Given the description of an element on the screen output the (x, y) to click on. 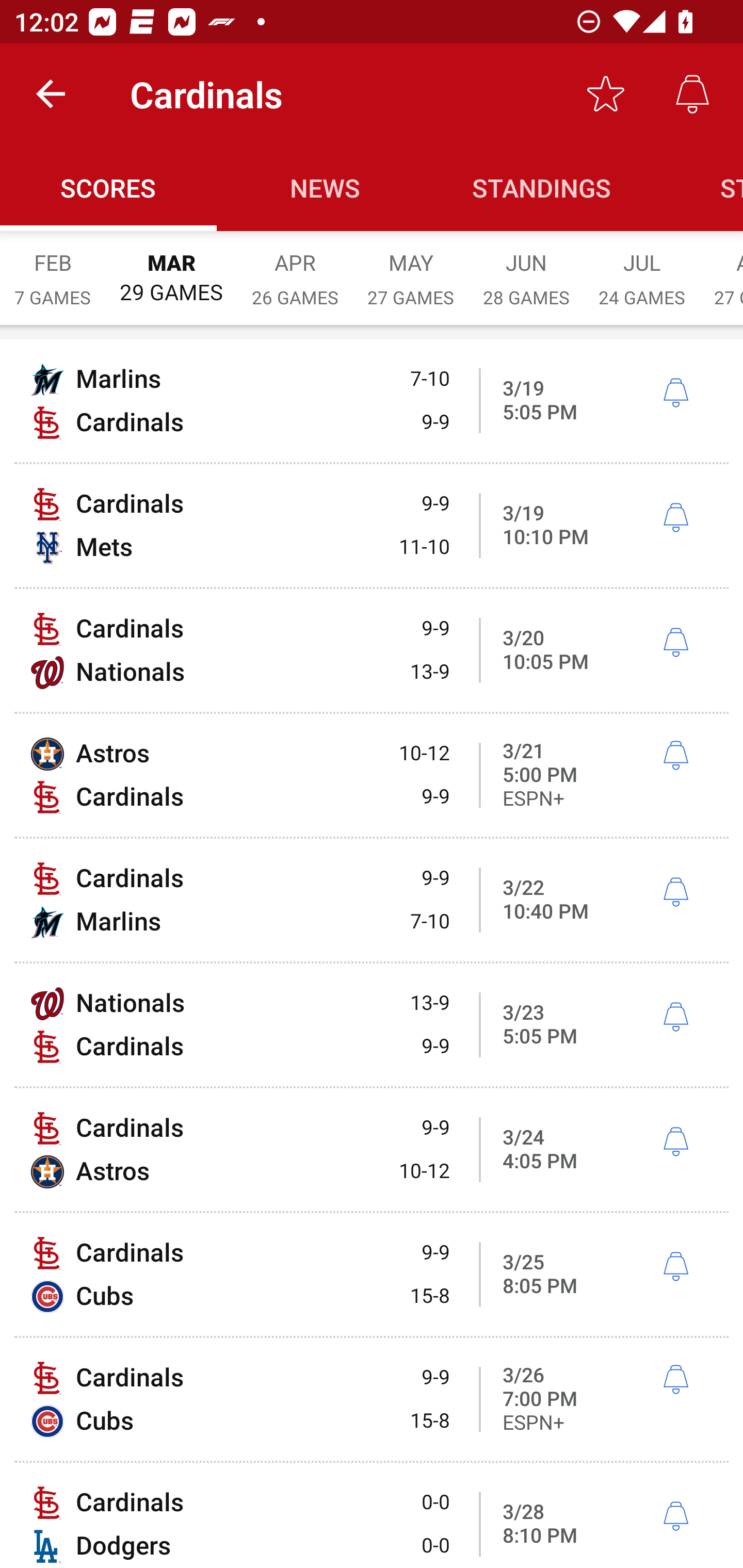
back.button (50, 93)
Favorite toggle (605, 93)
Alerts (692, 93)
News NEWS (324, 187)
Standings STANDINGS (541, 187)
Stats STATS (696, 187)
FEB 7 GAMES (52, 268)
MAR 29 GAMES (171, 267)
APR 26 GAMES (294, 268)
MAY 27 GAMES (410, 268)
JUN 28 GAMES (525, 268)
JUL 24 GAMES (641, 268)
Marlins 7-10 Cardinals 9-9 3/19 5:05 PM í (371, 400)
í (675, 392)
Cardinals 9-9 Mets 11-10 3/19 10:10 PM í (371, 525)
í (675, 517)
Cardinals 9-9 Nationals 13-9 3/20 10:05 PM í (371, 650)
í (675, 642)
Astros 10-12 Cardinals 9-9 3/21 5:00 PM í ESPN+ (371, 775)
í (675, 755)
Cardinals 9-9 Marlins 7-10 3/22 10:40 PM í (371, 899)
í (675, 892)
Nationals 13-9 Cardinals 9-9 3/23 5:05 PM í (371, 1024)
í (675, 1016)
Cardinals 9-9 Astros 10-12 3/24 4:05 PM í (371, 1149)
í (675, 1141)
Cardinals 9-9 Cubs 15-8 3/25 8:05 PM í (371, 1274)
í (675, 1266)
Cardinals 9-9 Cubs 15-8 3/26 7:00 PM í ESPN+ (371, 1399)
í (675, 1379)
Cardinals 0-0 Dodgers 0-0 3/28 8:10 PM í (371, 1515)
í (675, 1516)
